Given the description of an element on the screen output the (x, y) to click on. 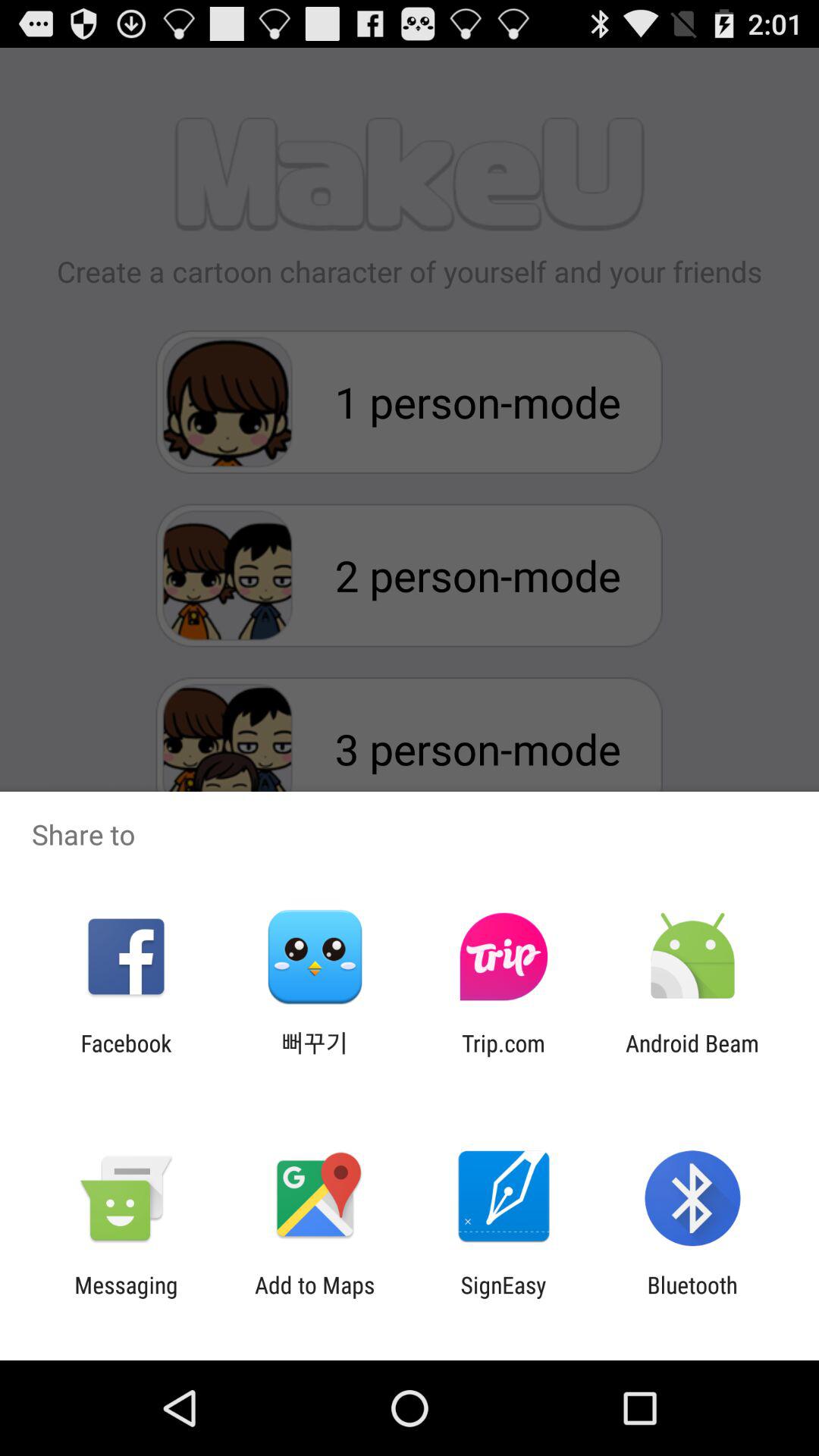
turn on item to the left of add to maps icon (126, 1298)
